Given the description of an element on the screen output the (x, y) to click on. 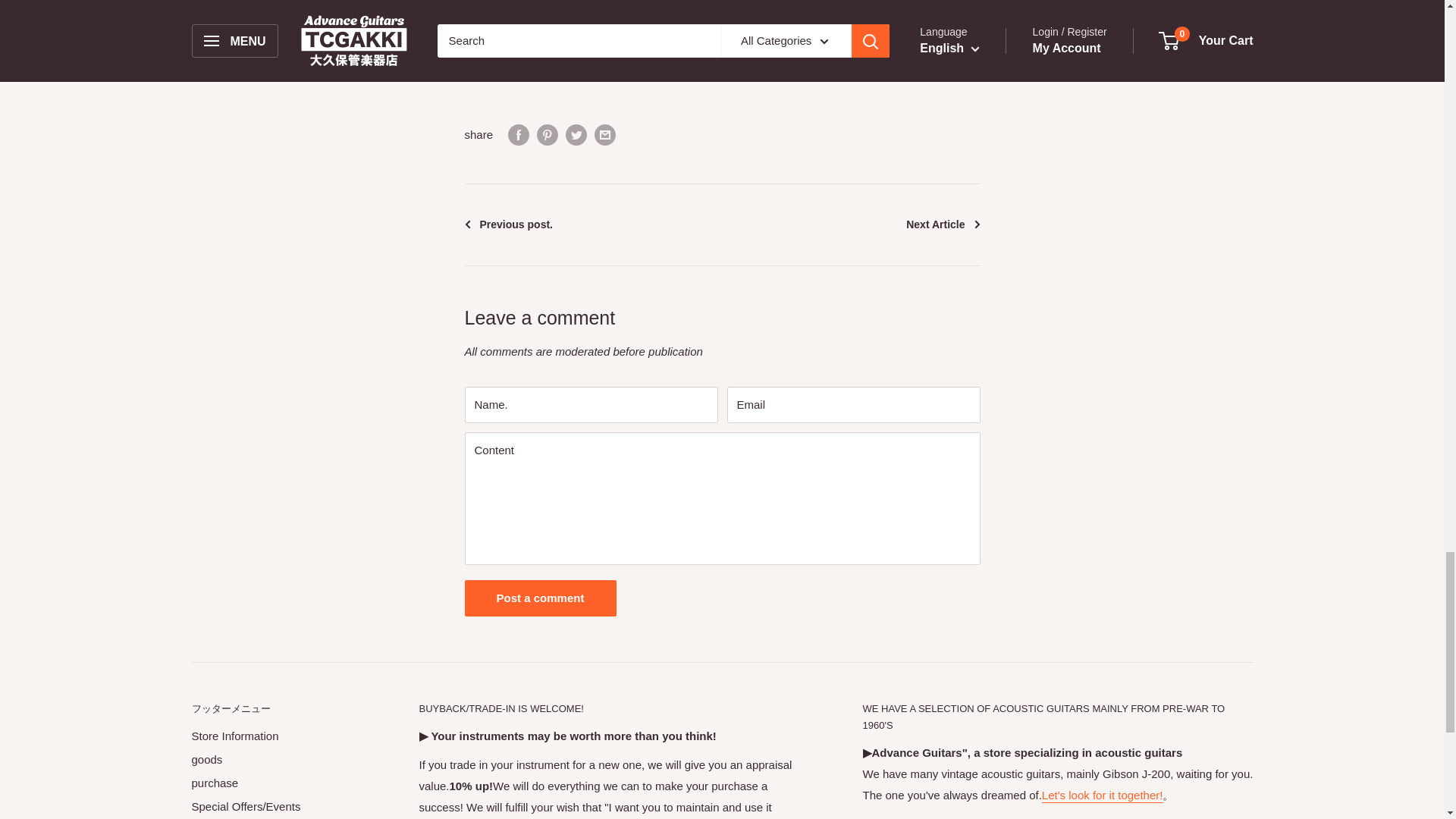
advanceguitars (1102, 794)
